Given the description of an element on the screen output the (x, y) to click on. 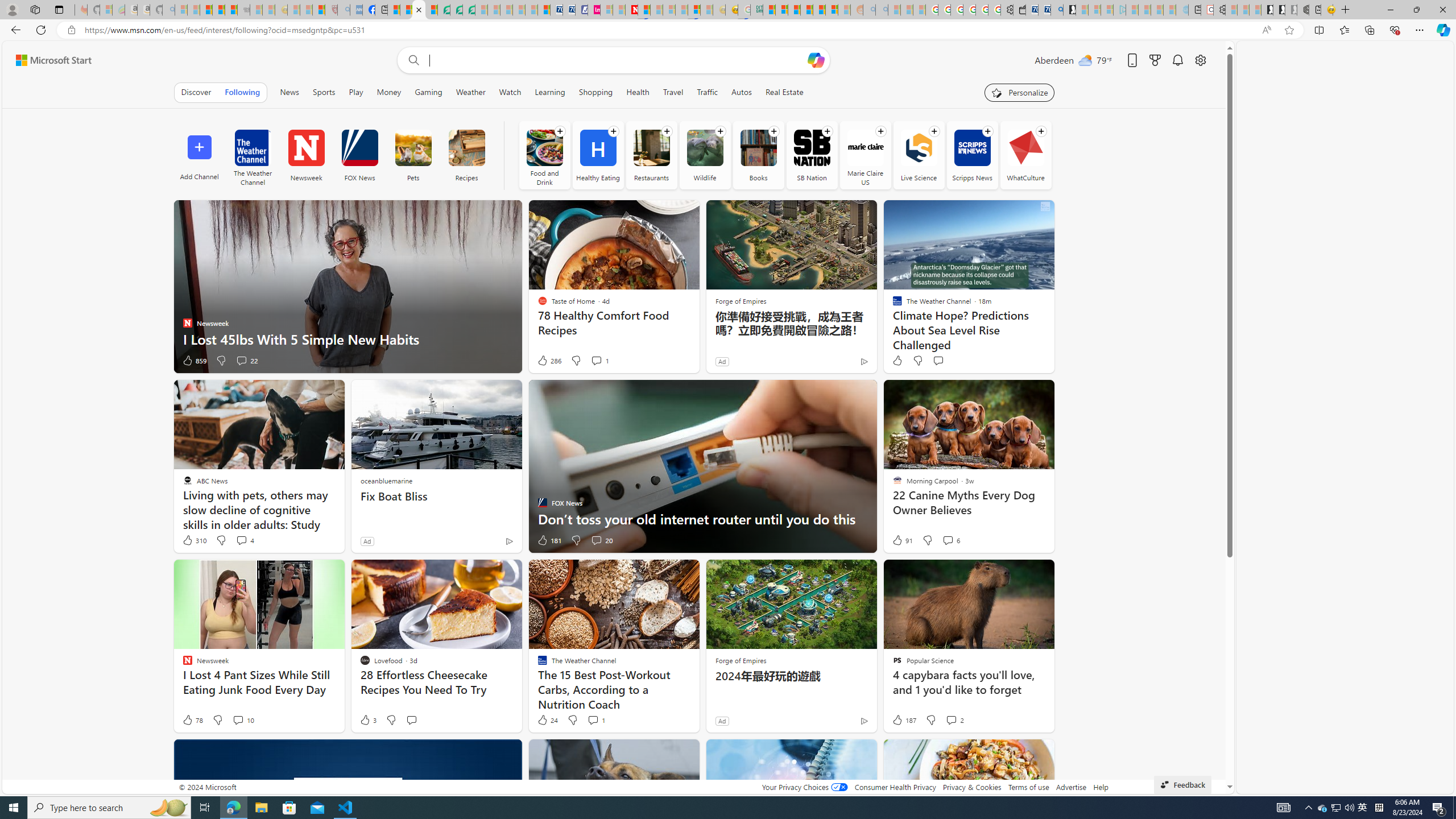
FOX News (359, 155)
Marie Claire US (865, 155)
187 Like (903, 719)
View comments 22 Comment (241, 360)
Restaurants (651, 147)
View comments 6 Comment (947, 540)
